Given the description of an element on the screen output the (x, y) to click on. 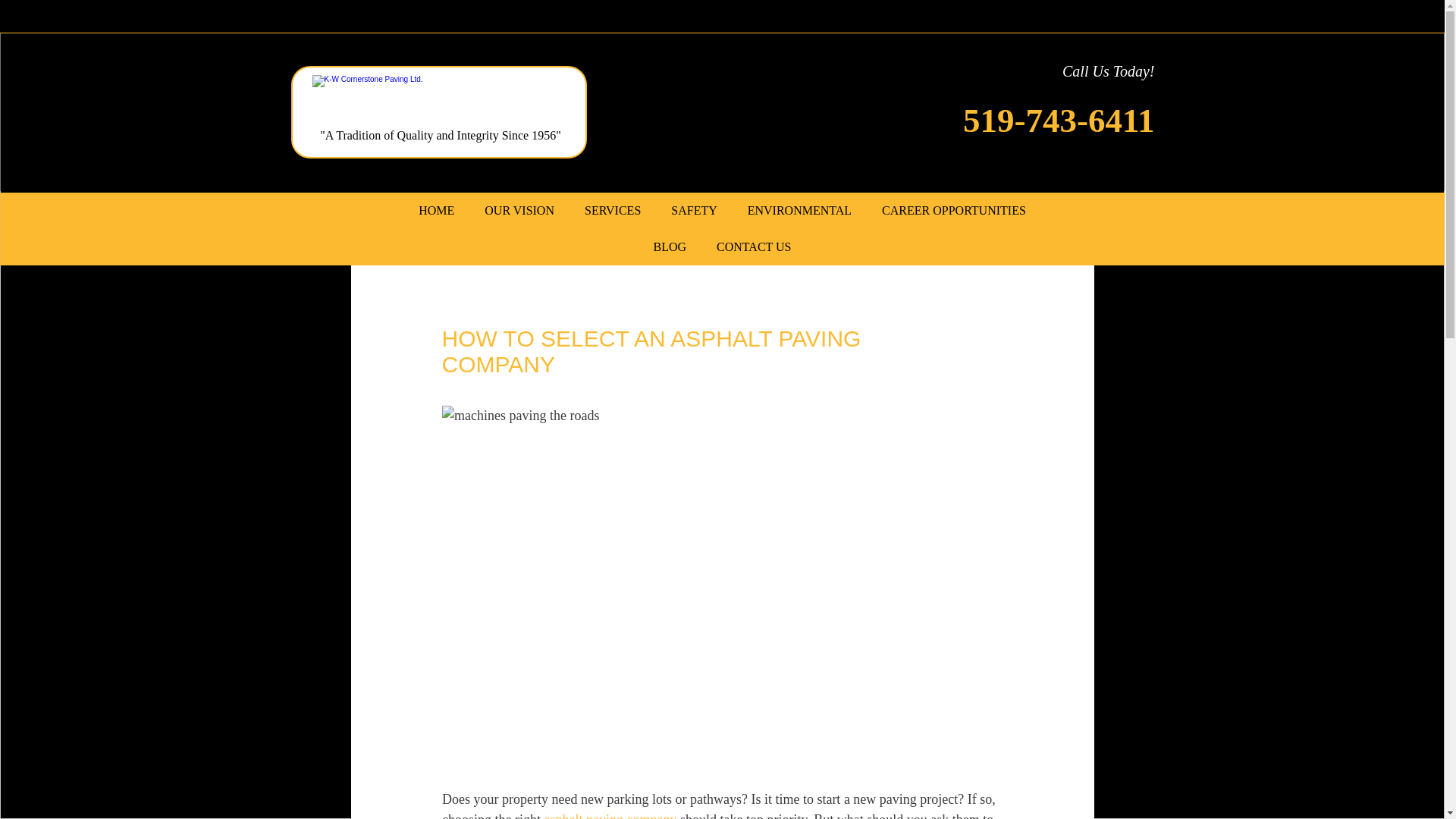
ENVIRONMENTAL (799, 210)
BLOG (670, 247)
SAFETY (694, 210)
CONTACT US (753, 247)
asphalt paving company (610, 815)
SERVICES (612, 210)
HOME (435, 210)
CAREER OPPORTUNITIES (953, 210)
OUR VISION (518, 210)
519-743-6411 (1058, 120)
